Given the description of an element on the screen output the (x, y) to click on. 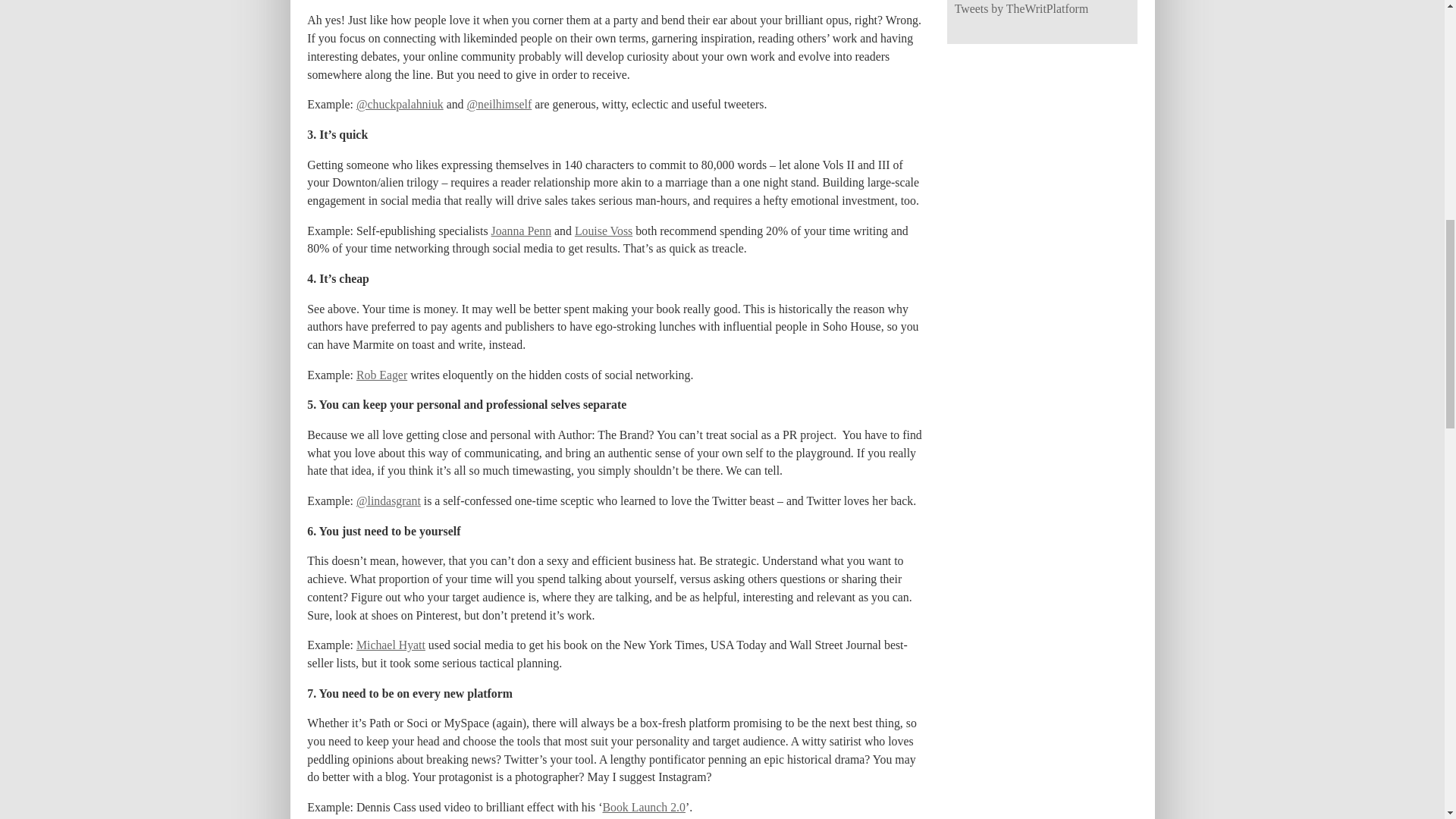
Joanna Penn (521, 230)
Louise Voss (603, 230)
Michael Hyatt (390, 644)
Rob Eager (381, 374)
Book Launch 2.0 (643, 807)
